Given the description of an element on the screen output the (x, y) to click on. 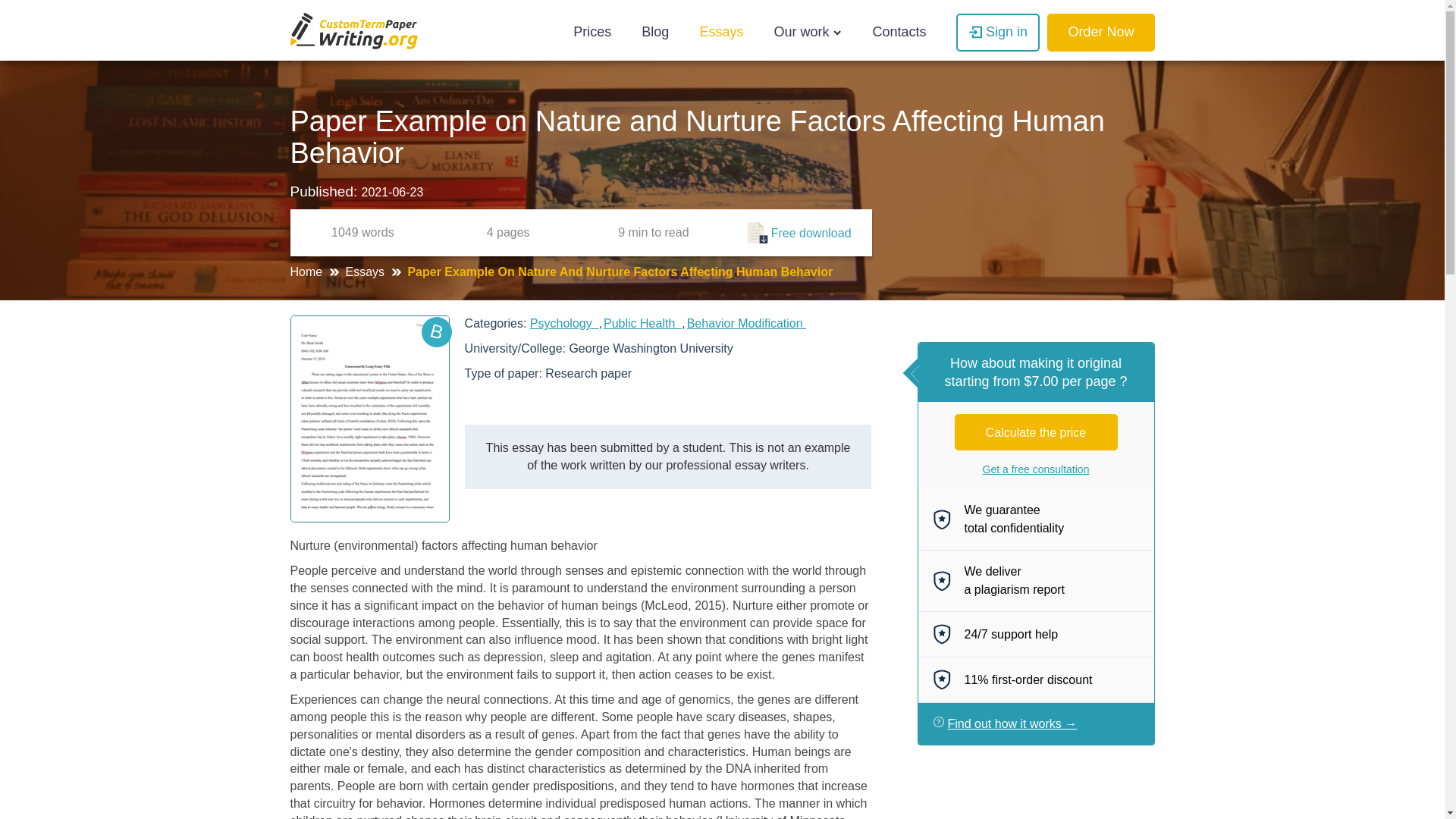
Calculate the price (1036, 432)
Behavior Modification  (746, 323)
Contacts (898, 32)
Home (306, 271)
Essays (721, 32)
Psychology  (563, 323)
Order Now (1100, 32)
Public Health  (642, 323)
Prices (591, 32)
Essays (367, 271)
